Given the description of an element on the screen output the (x, y) to click on. 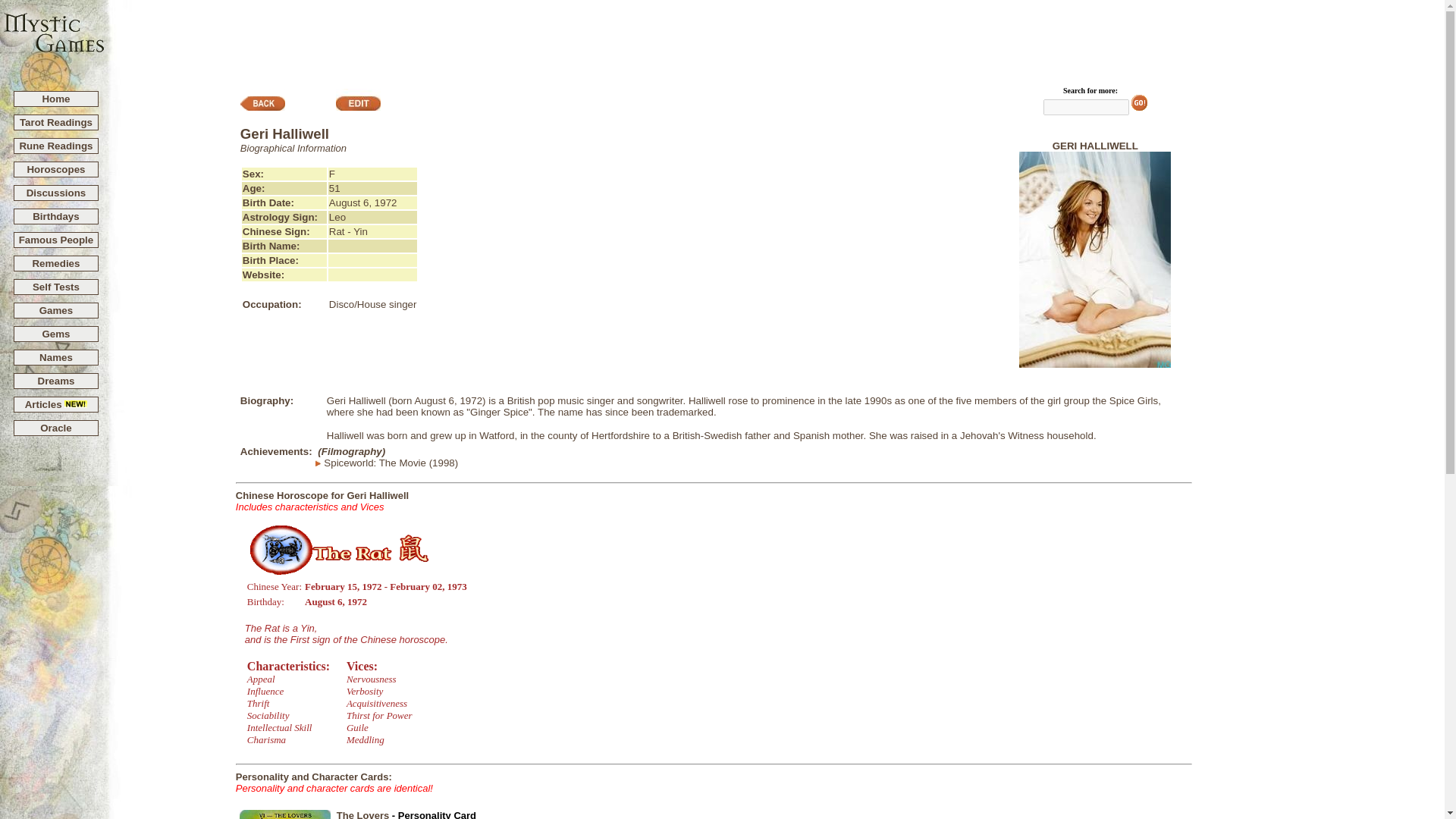
Remedies (56, 263)
Discussions (55, 193)
Birthdays (55, 215)
Articles (55, 404)
Tarot Readings (56, 122)
Dreams (56, 380)
Games (55, 310)
Self Tests (56, 286)
Go (1139, 102)
Home (55, 98)
